Given the description of an element on the screen output the (x, y) to click on. 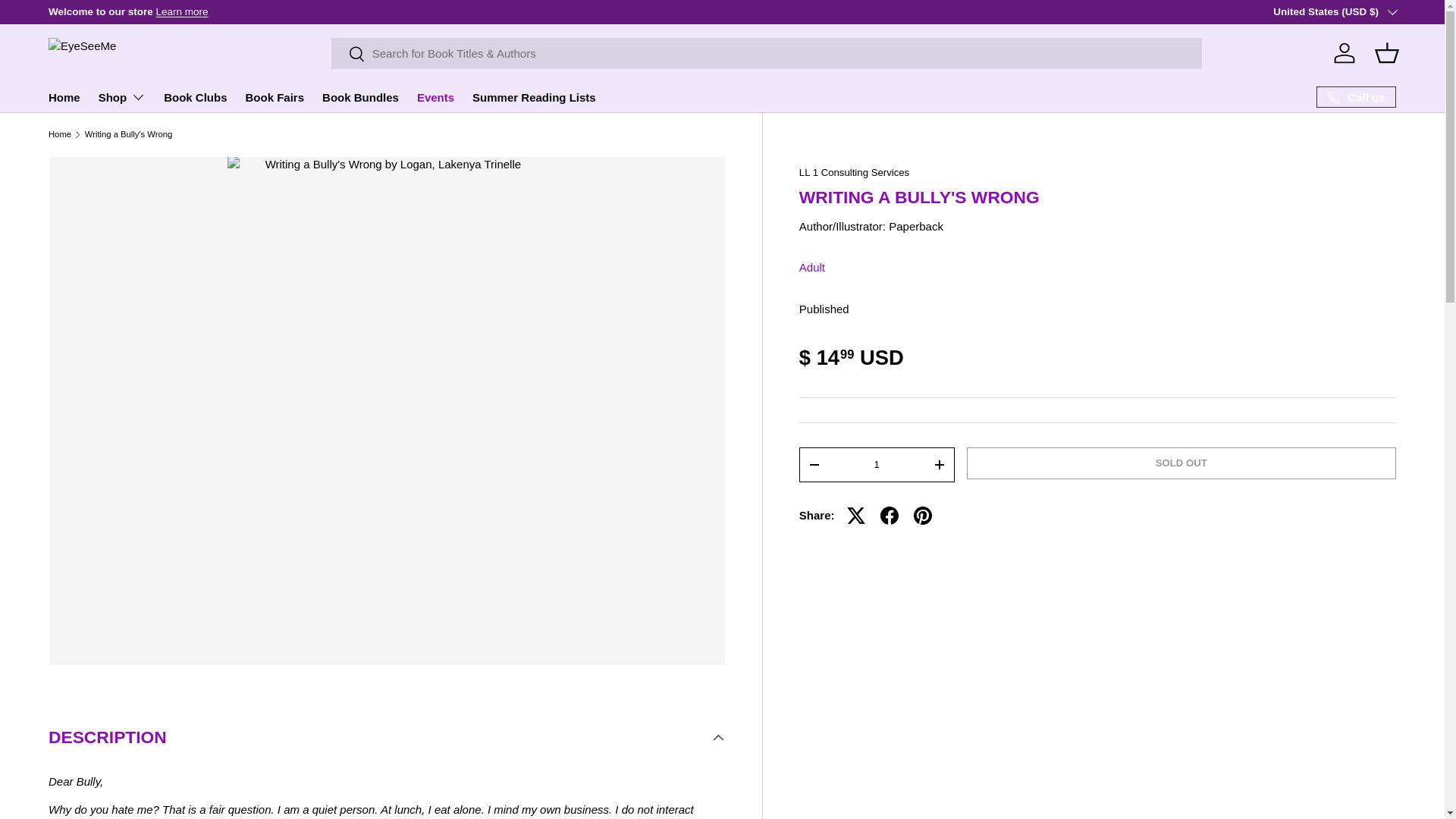
Writing a Bully's Wrong (128, 134)
Events (435, 97)
Call us (1356, 96)
Summer Reading Lists (533, 97)
- (813, 464)
Learn more (1406, 11)
Home (64, 97)
Book Bundles (359, 97)
LL 1 Consulting Services (853, 172)
1 (876, 464)
